Given the description of an element on the screen output the (x, y) to click on. 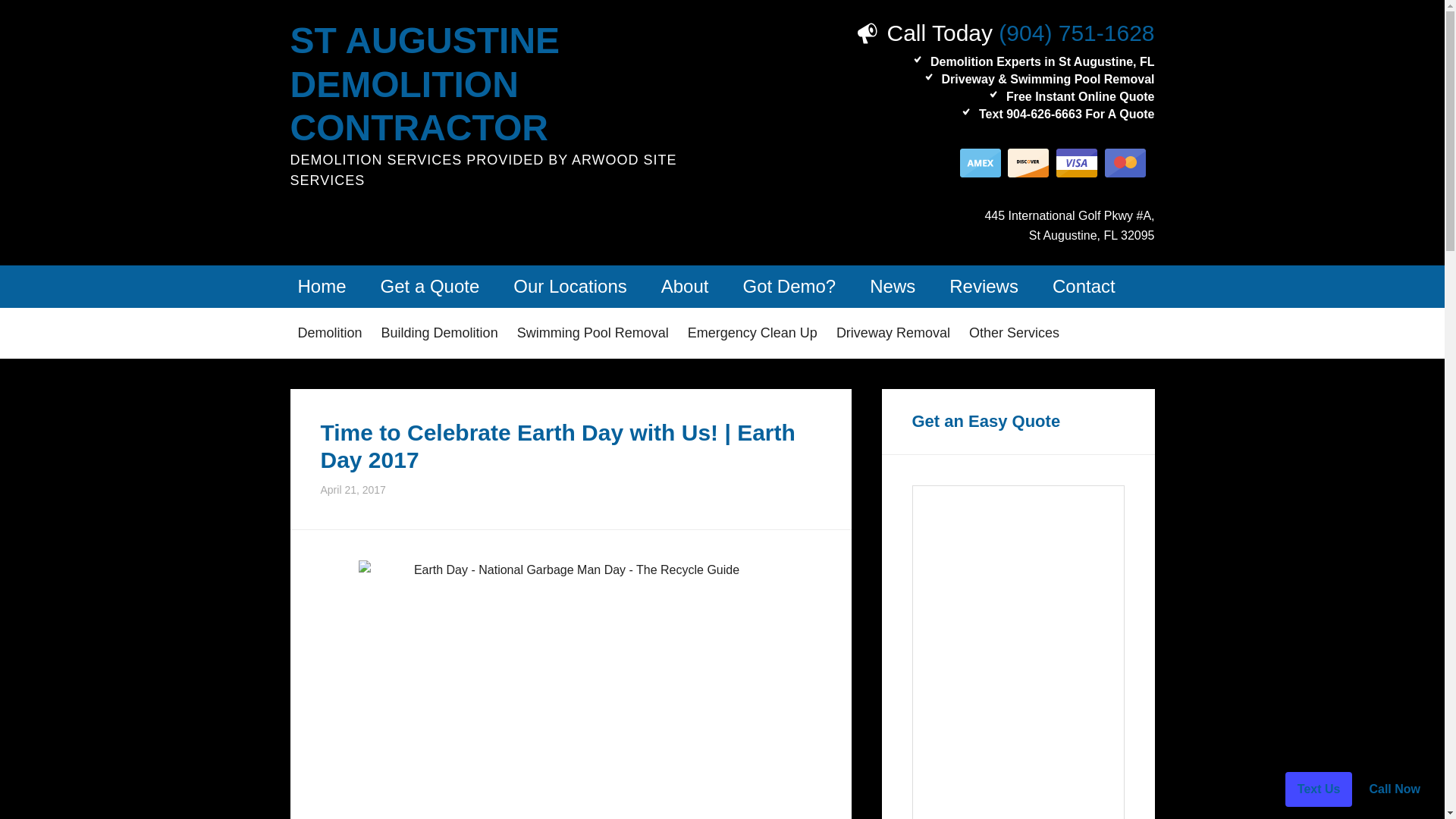
Emergency Clean Up (752, 332)
Driveway Removal (893, 332)
Other Services (1013, 332)
Get a Quote (429, 286)
Building Demolition (439, 332)
Demolition (329, 332)
ST AUGUSTINE DEMOLITION CONTRACTOR (424, 84)
Contact (1083, 286)
Home (321, 286)
Reviews (984, 286)
About (684, 286)
The Recycle Guide - National Garbage Man Day - Earth Day (570, 689)
Got Demo? (789, 286)
Our Locations (569, 286)
Swimming Pool Removal (593, 332)
